Given the description of an element on the screen output the (x, y) to click on. 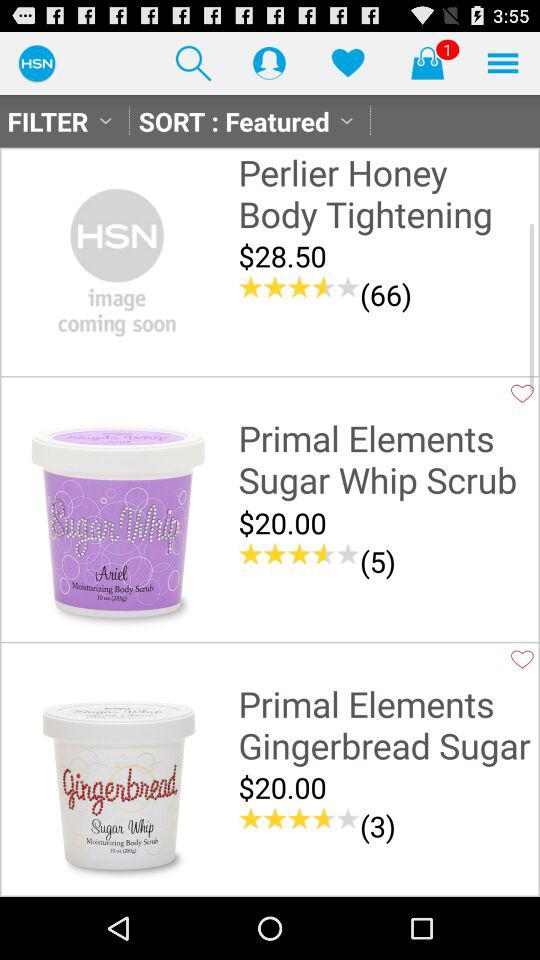
select the image which is left of primal elements sugar whip scrub (117, 524)
click on top left hsn blue circle icon which is left to search icon (36, 62)
select the button which is slightly right above primal elements (522, 393)
select the symbol which is to the immediate left of profile picture symbol (193, 63)
click on to the third icon from the right (347, 63)
